Given the description of an element on the screen output the (x, y) to click on. 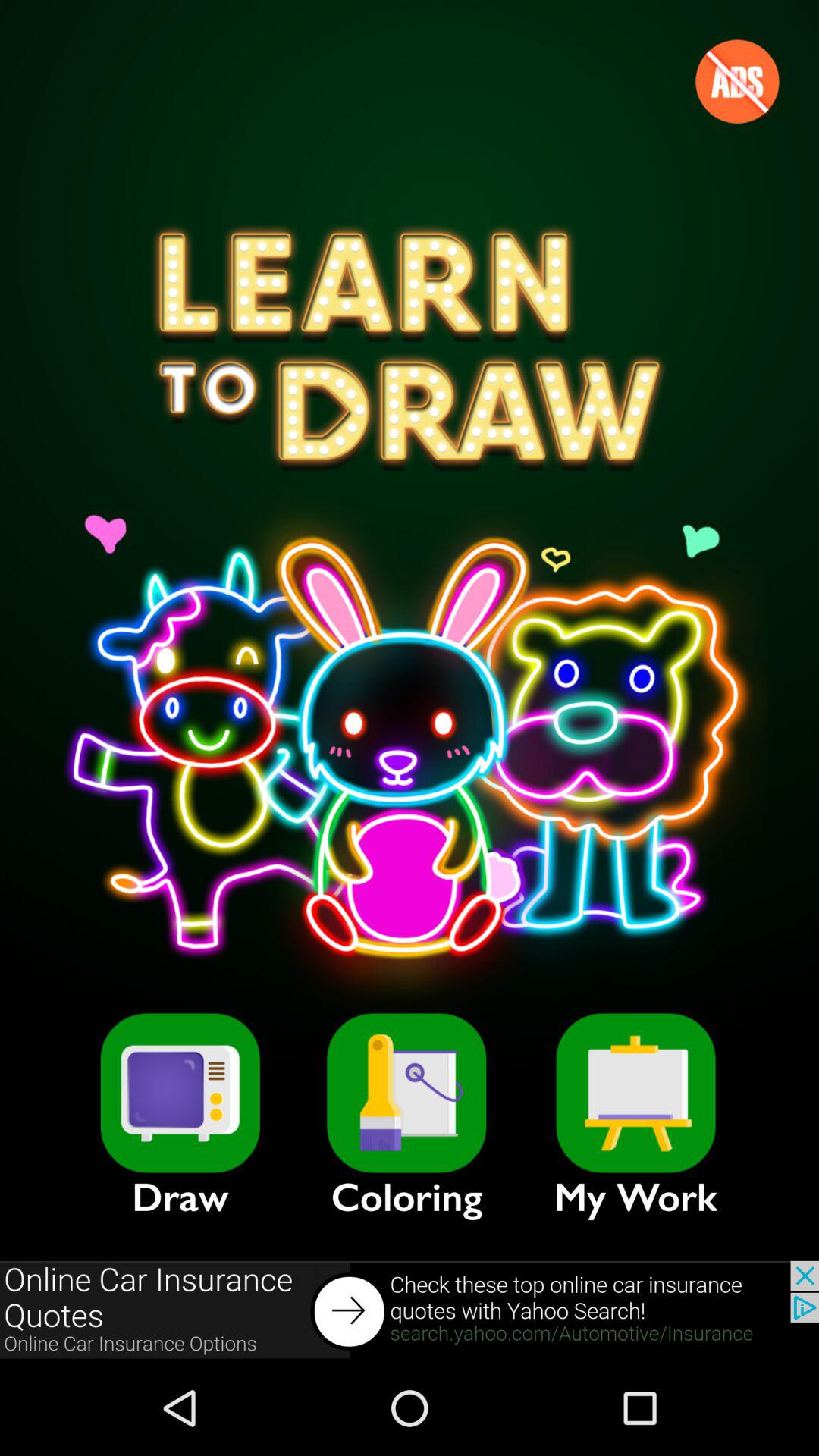
select the icon above the draw item (179, 1092)
